Given the description of an element on the screen output the (x, y) to click on. 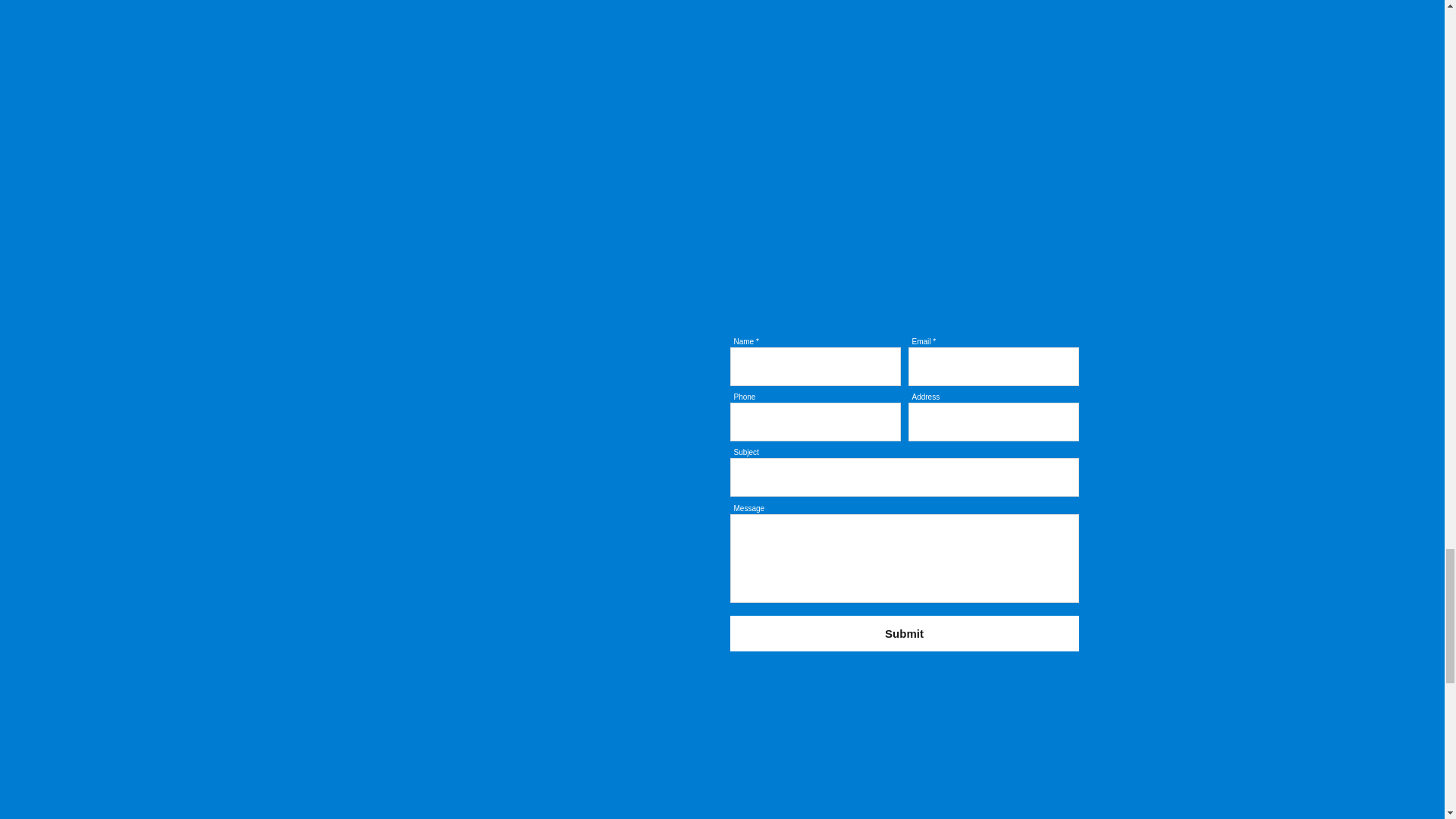
Submit (903, 633)
